Given the description of an element on the screen output the (x, y) to click on. 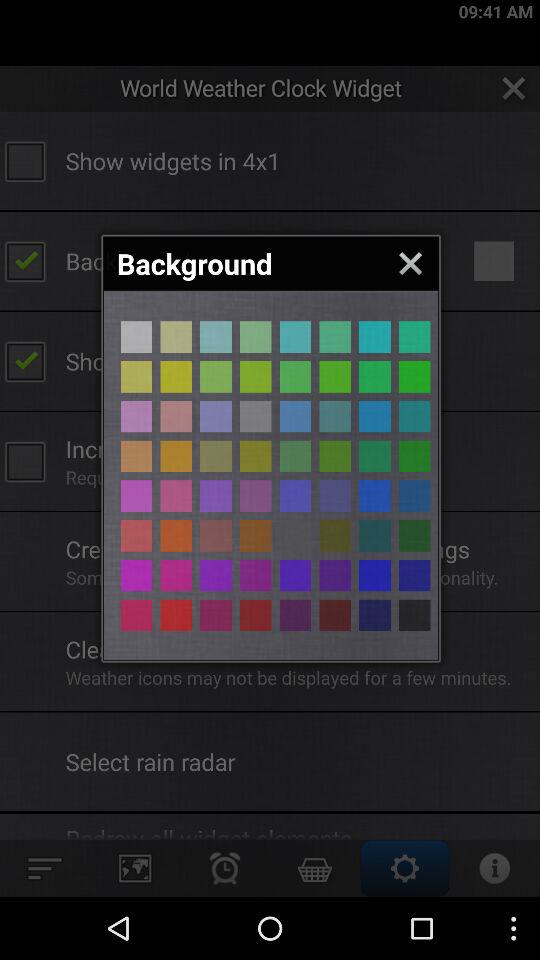
background colour button (295, 456)
